Given the description of an element on the screen output the (x, y) to click on. 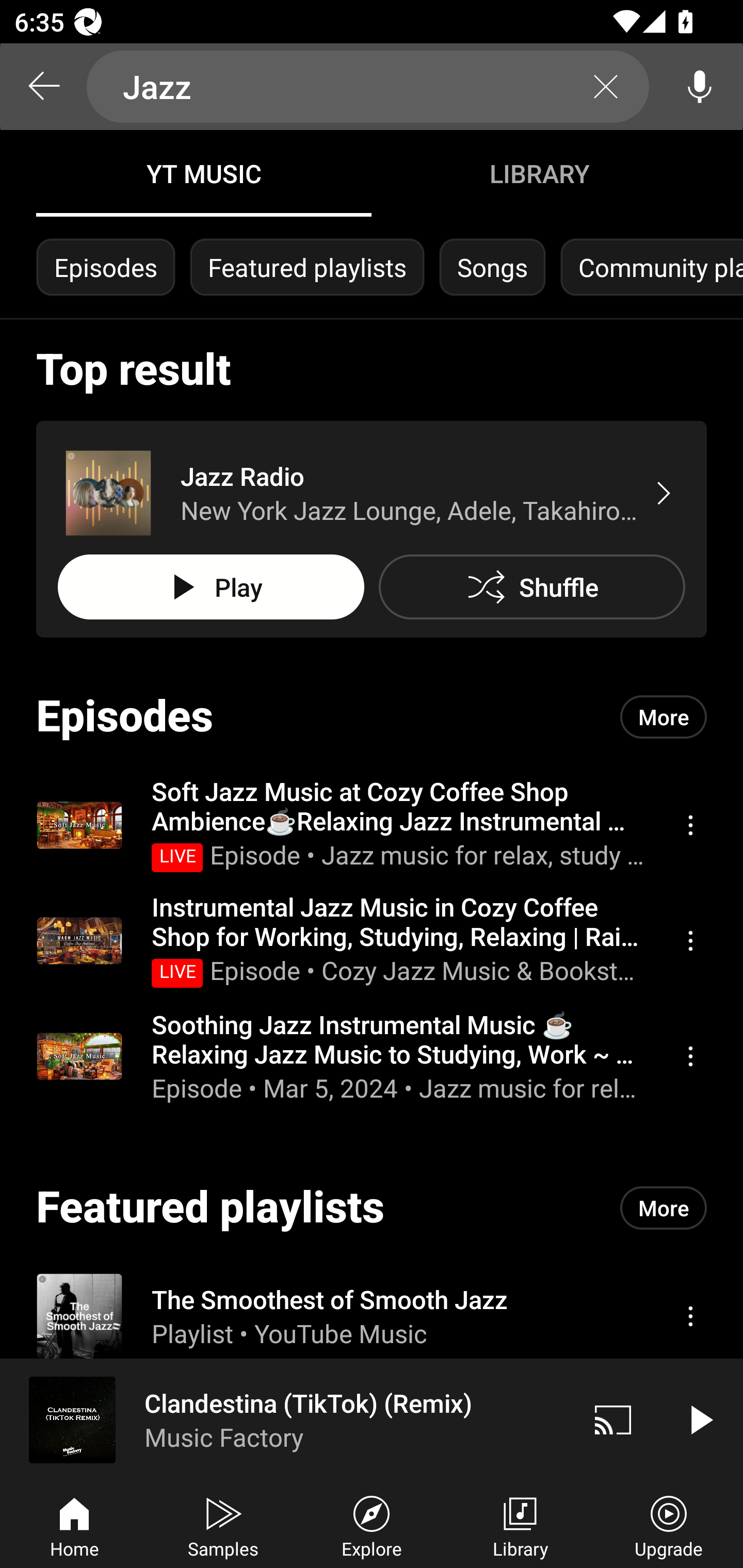
Search back (43, 86)
Jazz (367, 86)
Clear search (605, 86)
Voice search (699, 86)
Library LIBRARY (538, 173)
Episodes (105, 267)
Play PLAY ALL (210, 587)
Shuffle (531, 587)
Episodes More More (371, 716)
More (663, 716)
Menu (690, 824)
Menu (690, 940)
Menu (690, 1056)
Featured playlists More More (371, 1208)
More (663, 1207)
Menu (690, 1315)
Clandestina (TikTok) (Remix) Music Factory (284, 1419)
Cast. Disconnected (612, 1419)
Play video (699, 1419)
Home (74, 1524)
Samples (222, 1524)
Explore (371, 1524)
Library (519, 1524)
Upgrade (668, 1524)
